Given the description of an element on the screen output the (x, y) to click on. 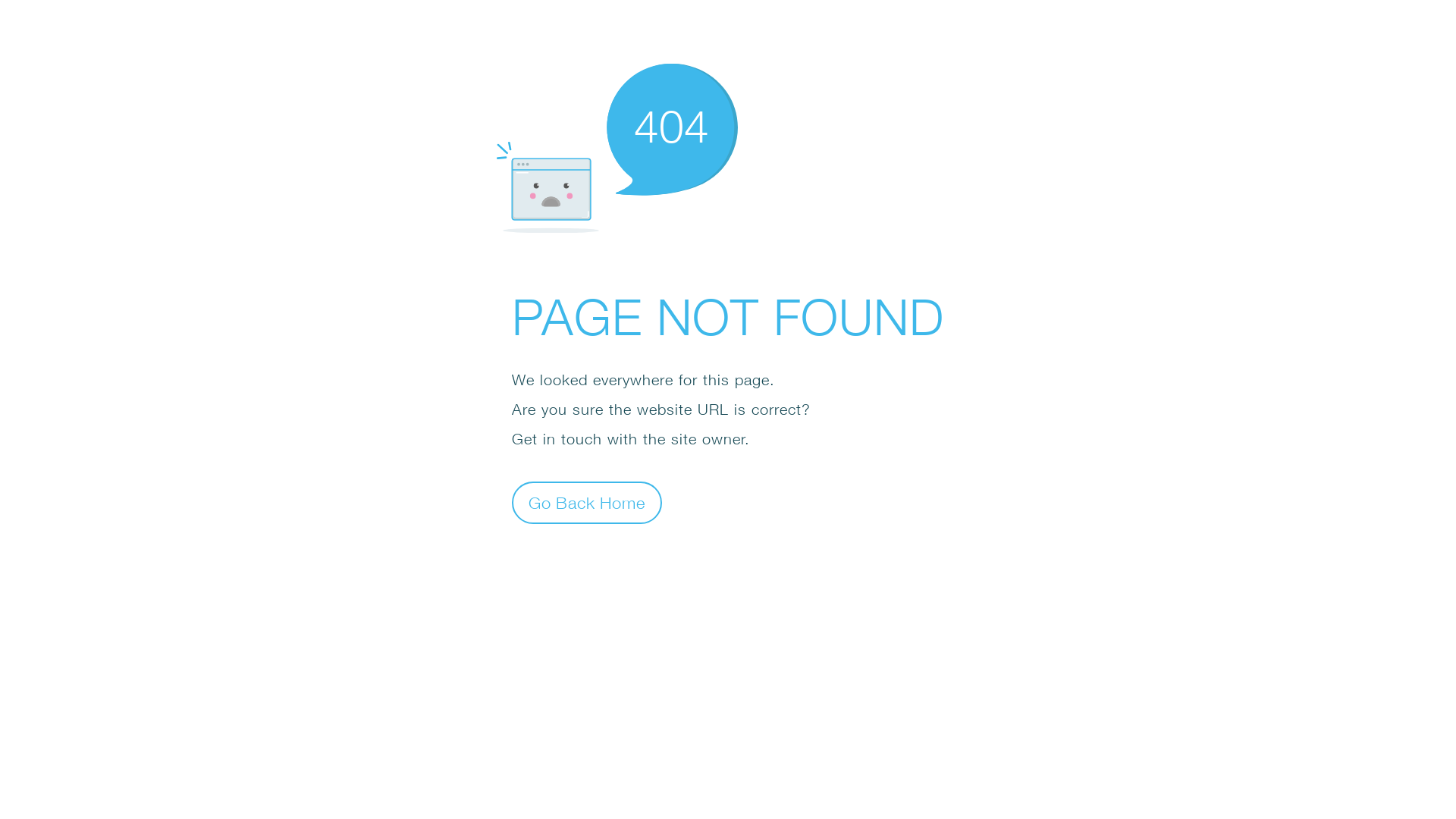
Go Back Home Element type: text (586, 502)
